Given the description of an element on the screen output the (x, y) to click on. 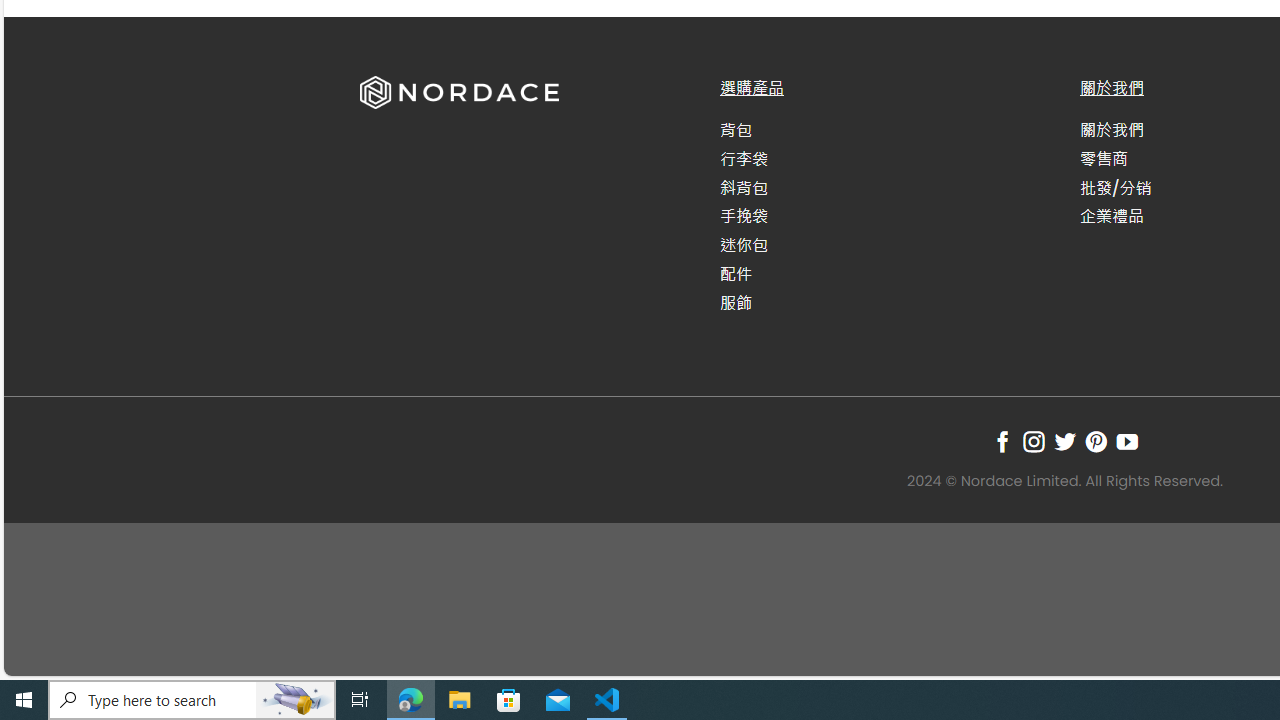
Follow on Facebook (1002, 441)
Follow on Instagram (1033, 441)
Follow on YouTube (1126, 441)
Follow on Pinterest (1096, 441)
